Given the description of an element on the screen output the (x, y) to click on. 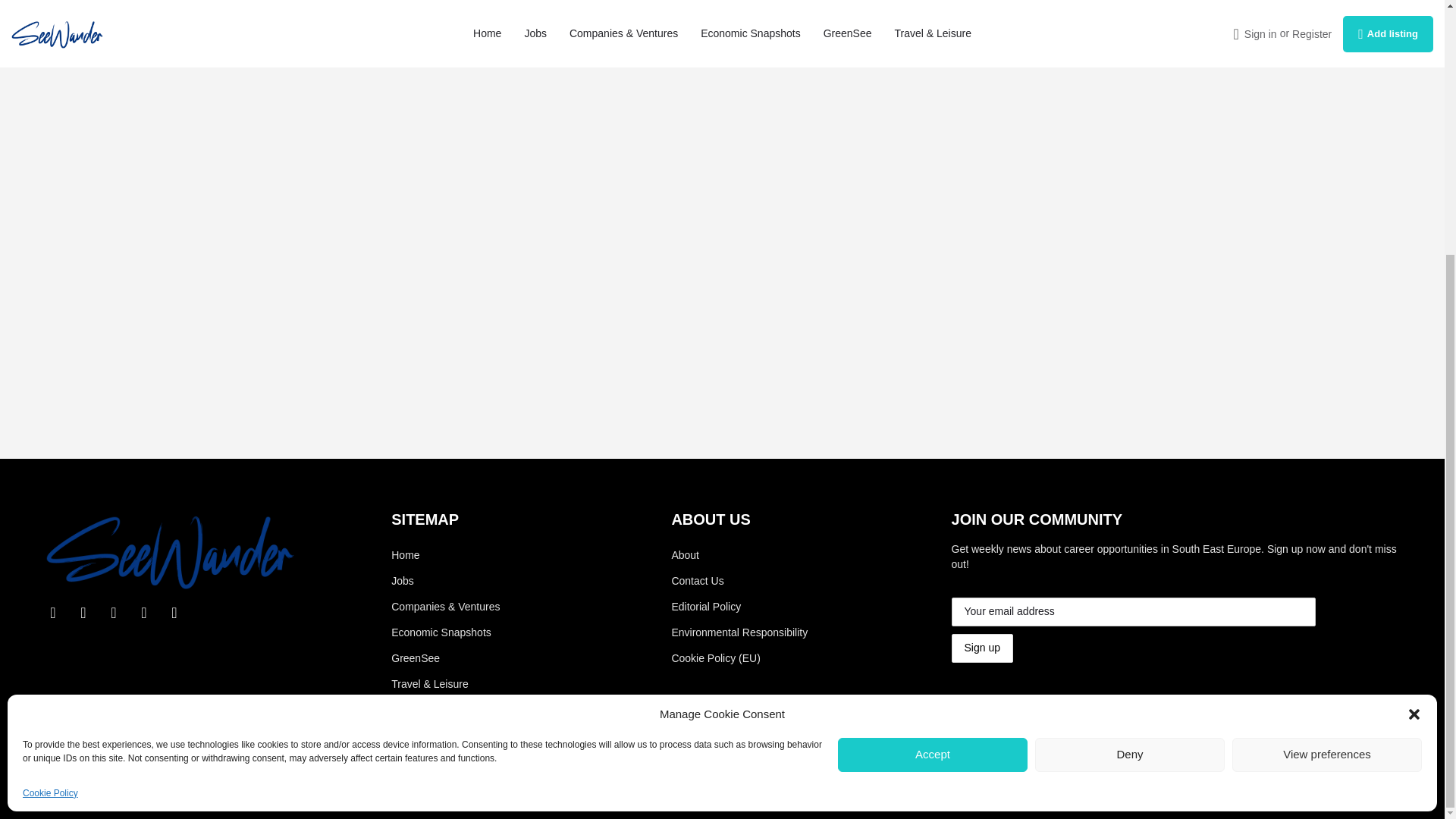
Sign up (982, 647)
Deny (1129, 394)
Jobs (445, 580)
Cookie Policy (50, 432)
View preferences (1326, 394)
Accept (932, 394)
About (795, 555)
Home (445, 555)
Economic Snapshots (445, 632)
GreenSee (445, 657)
